Given the description of an element on the screen output the (x, y) to click on. 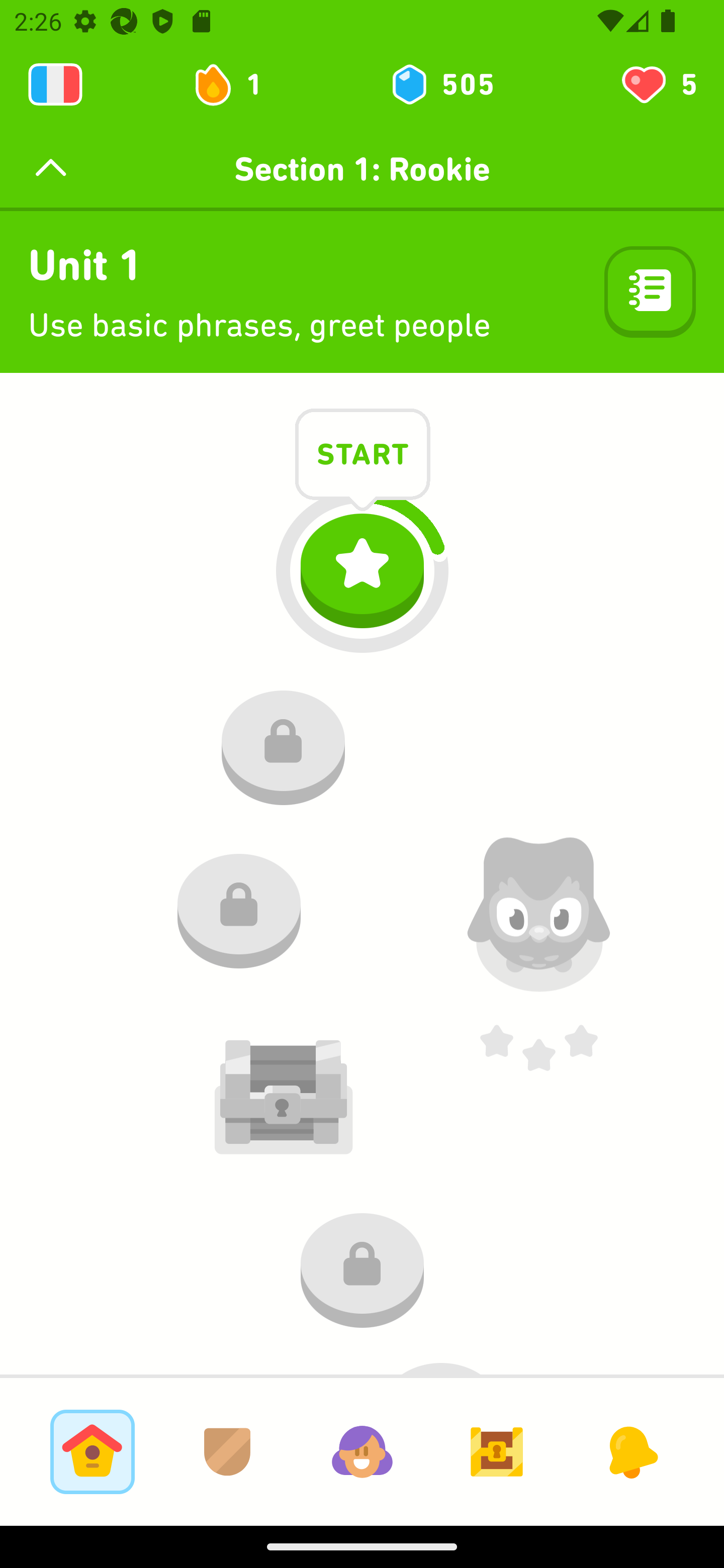
Learning 2131888976 (55, 84)
1 day streak 1 (236, 84)
505 (441, 84)
You have 5 hearts left 5 (657, 84)
Section 1: Rookie (362, 169)
START (362, 457)
Learn Tab (91, 1451)
Leagues Tab (227, 1451)
Profile Tab (361, 1451)
Goals Tab (496, 1451)
News Tab (631, 1451)
